Given the description of an element on the screen output the (x, y) to click on. 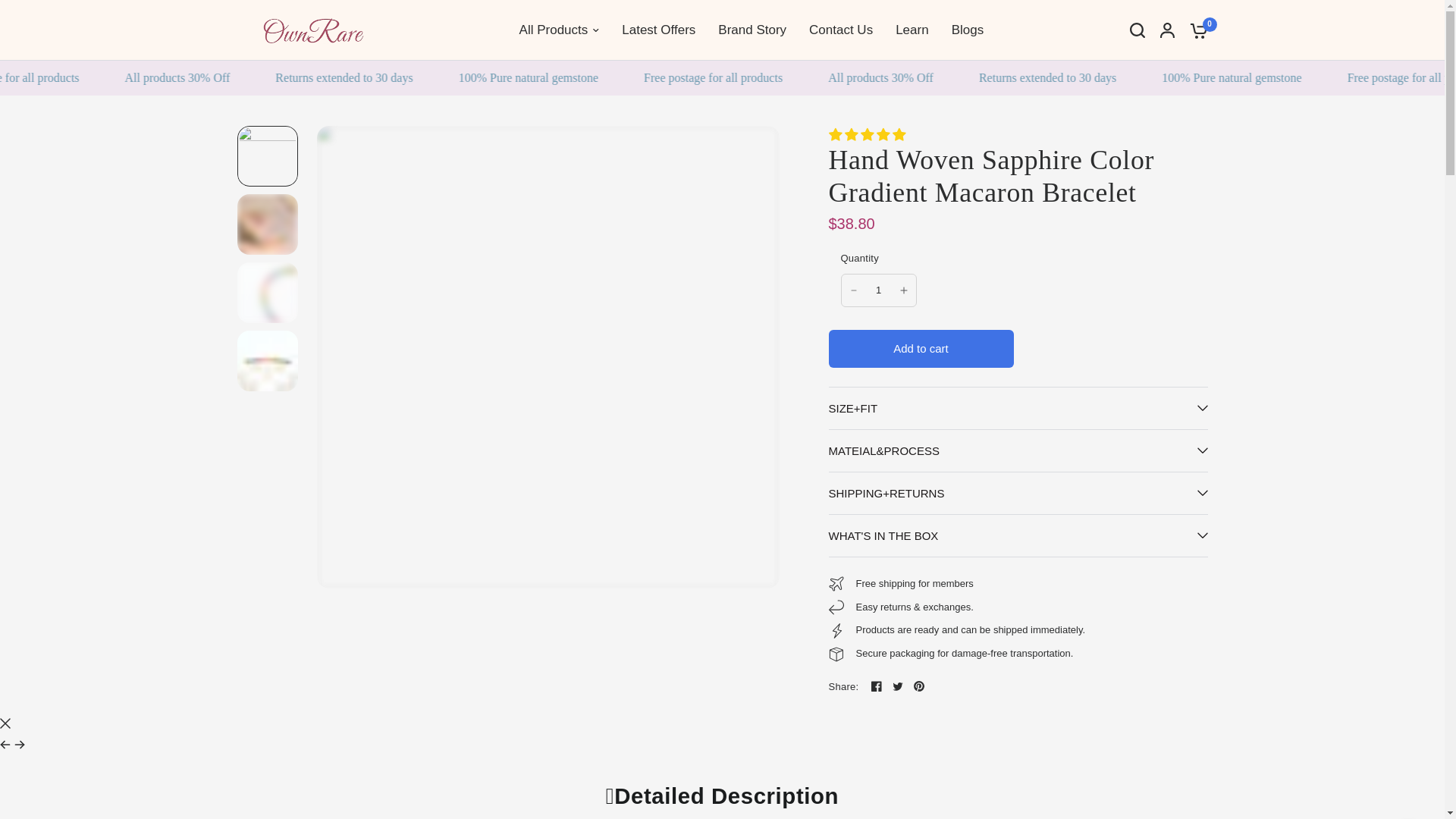
All Products (559, 29)
Brand Story (751, 29)
Free postage for all products (737, 77)
Latest Offers (658, 29)
All Products (559, 29)
Returns extended to 30 days (370, 77)
Learn (911, 29)
Contact Us (840, 29)
Returns extended to 30 days (1071, 77)
Blogs (968, 29)
